Given the description of an element on the screen output the (x, y) to click on. 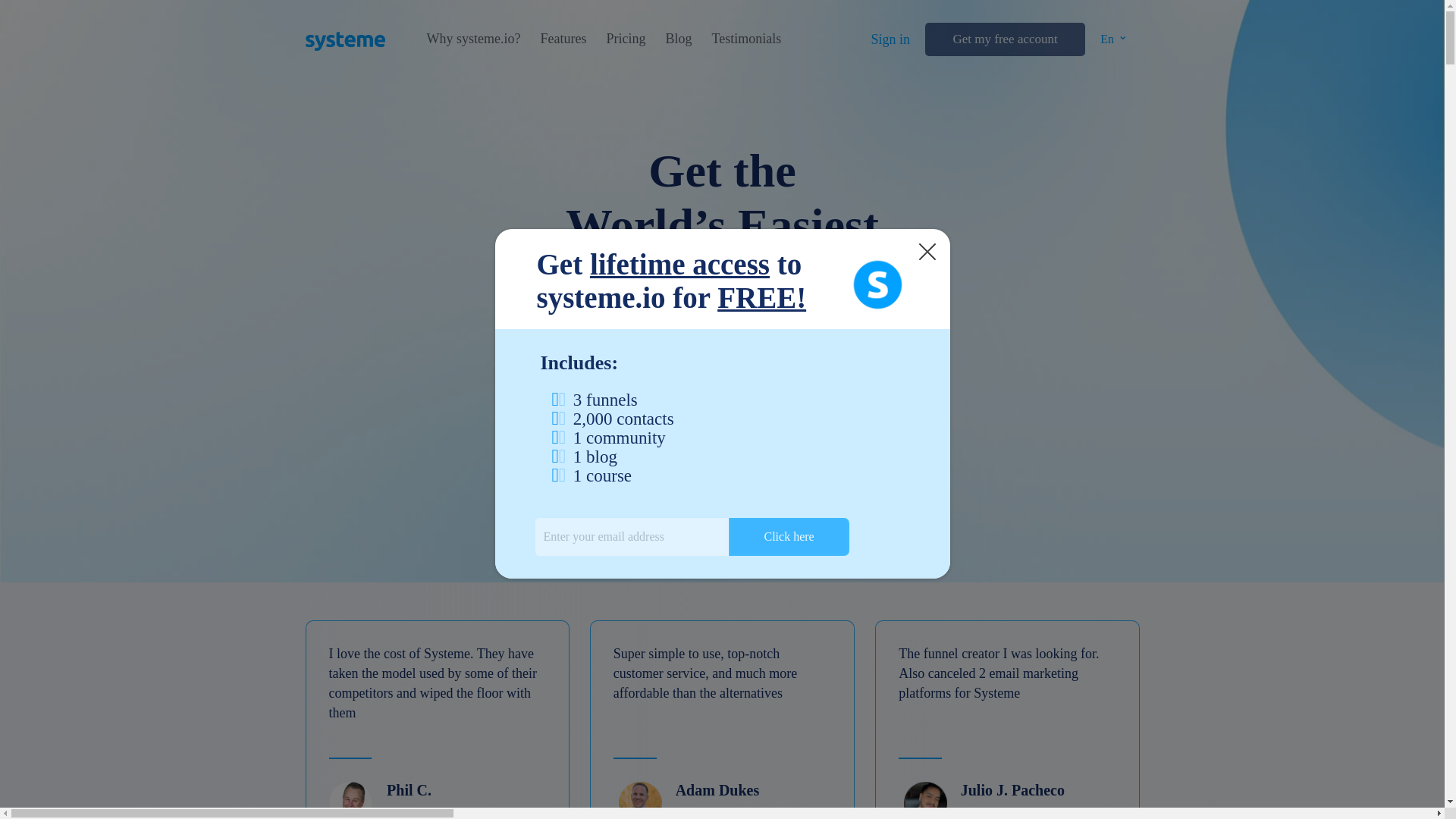
Sign in (890, 39)
Get my free account (1004, 39)
Testimonials (745, 38)
Why systeme.io? (472, 38)
Features (563, 38)
Blog (678, 38)
Pricing (625, 38)
